Given the description of an element on the screen output the (x, y) to click on. 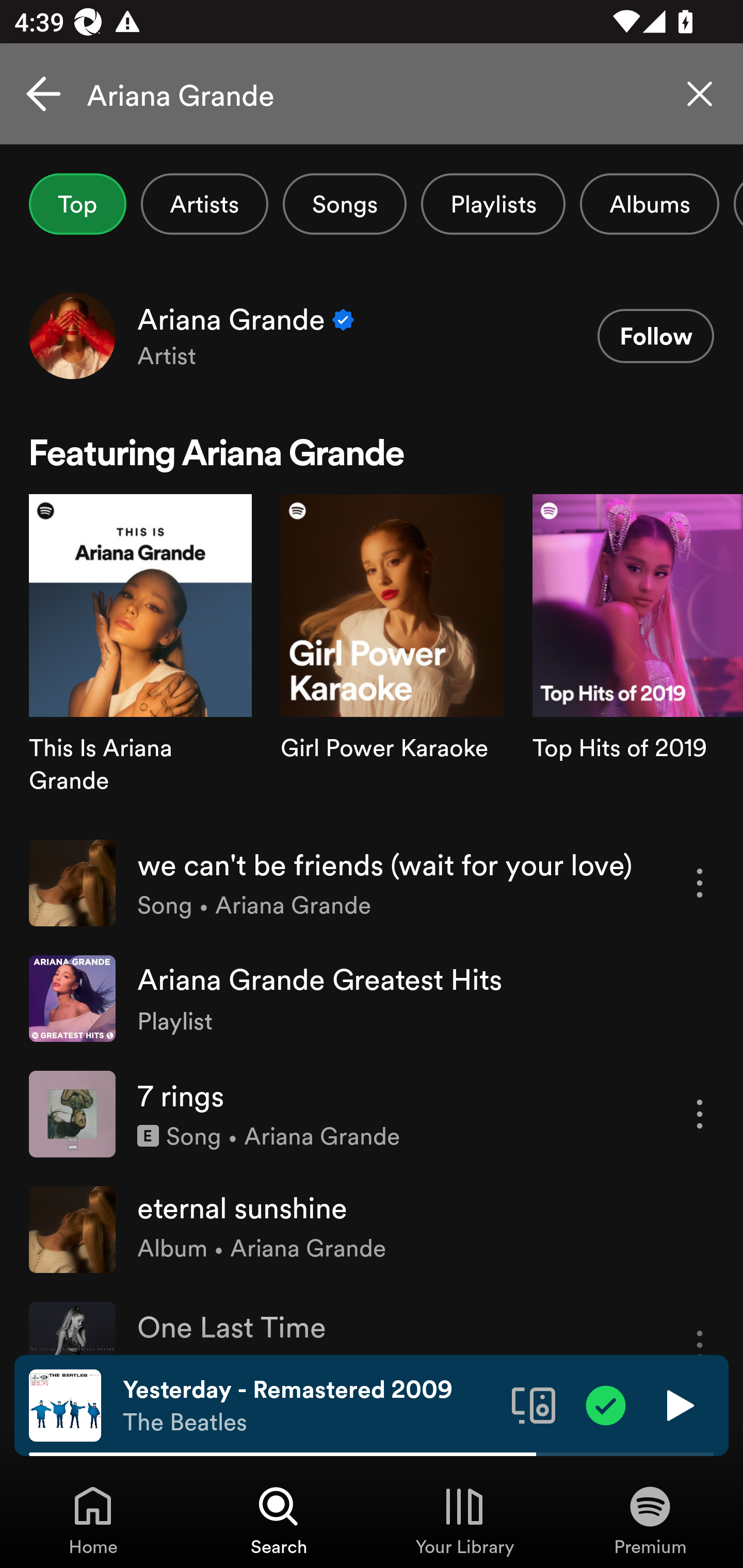
Ariana Grande (371, 93)
Cancel (43, 93)
Clear search query (699, 93)
Top (77, 203)
Artists (204, 203)
Songs (344, 203)
Playlists (493, 203)
Albums (649, 203)
Ariana Grande Verified Artist Follow Follow (371, 335)
Follow (655, 335)
Search card image This Is Ariana Grande (139, 658)
Search card image Girl Power Karaoke (391, 658)
Search card image Top Hits of 2019 (637, 658)
Ariana Grande Greatest Hits Playlist (371, 998)
More options for song 7 rings (699, 1113)
eternal sunshine Album • Ariana Grande (371, 1229)
More options for song One Last Time (699, 1327)
Yesterday - Remastered 2009 The Beatles (309, 1405)
The cover art of the currently playing track (64, 1404)
Connect to a device. Opens the devices menu (533, 1404)
Item added (605, 1404)
Play (677, 1404)
Home, Tab 1 of 4 Home Home (92, 1519)
Search, Tab 2 of 4 Search Search (278, 1519)
Your Library, Tab 3 of 4 Your Library Your Library (464, 1519)
Premium, Tab 4 of 4 Premium Premium (650, 1519)
